Given the description of an element on the screen output the (x, y) to click on. 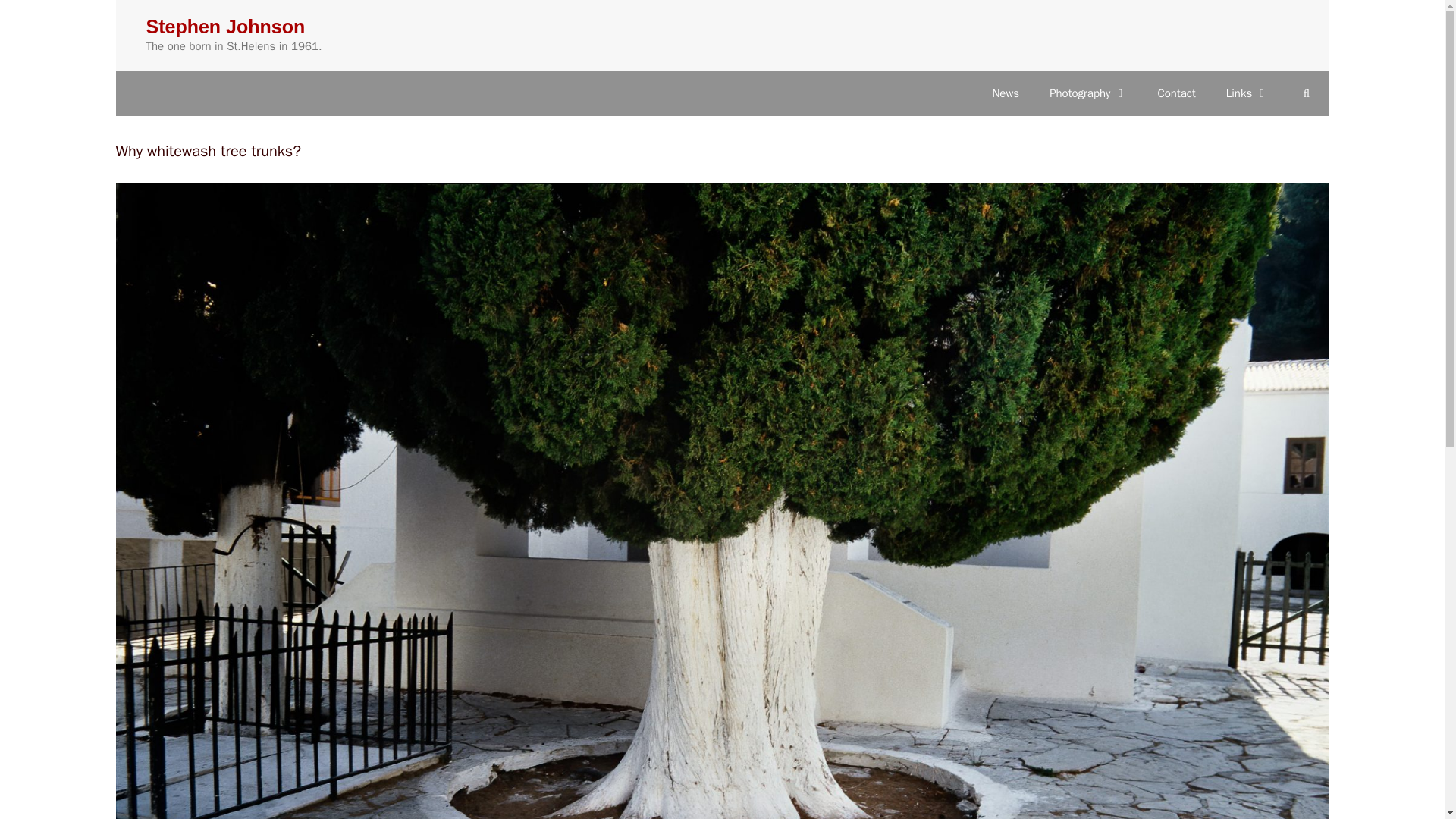
Stephen Johnson (224, 25)
